Given the description of an element on the screen output the (x, y) to click on. 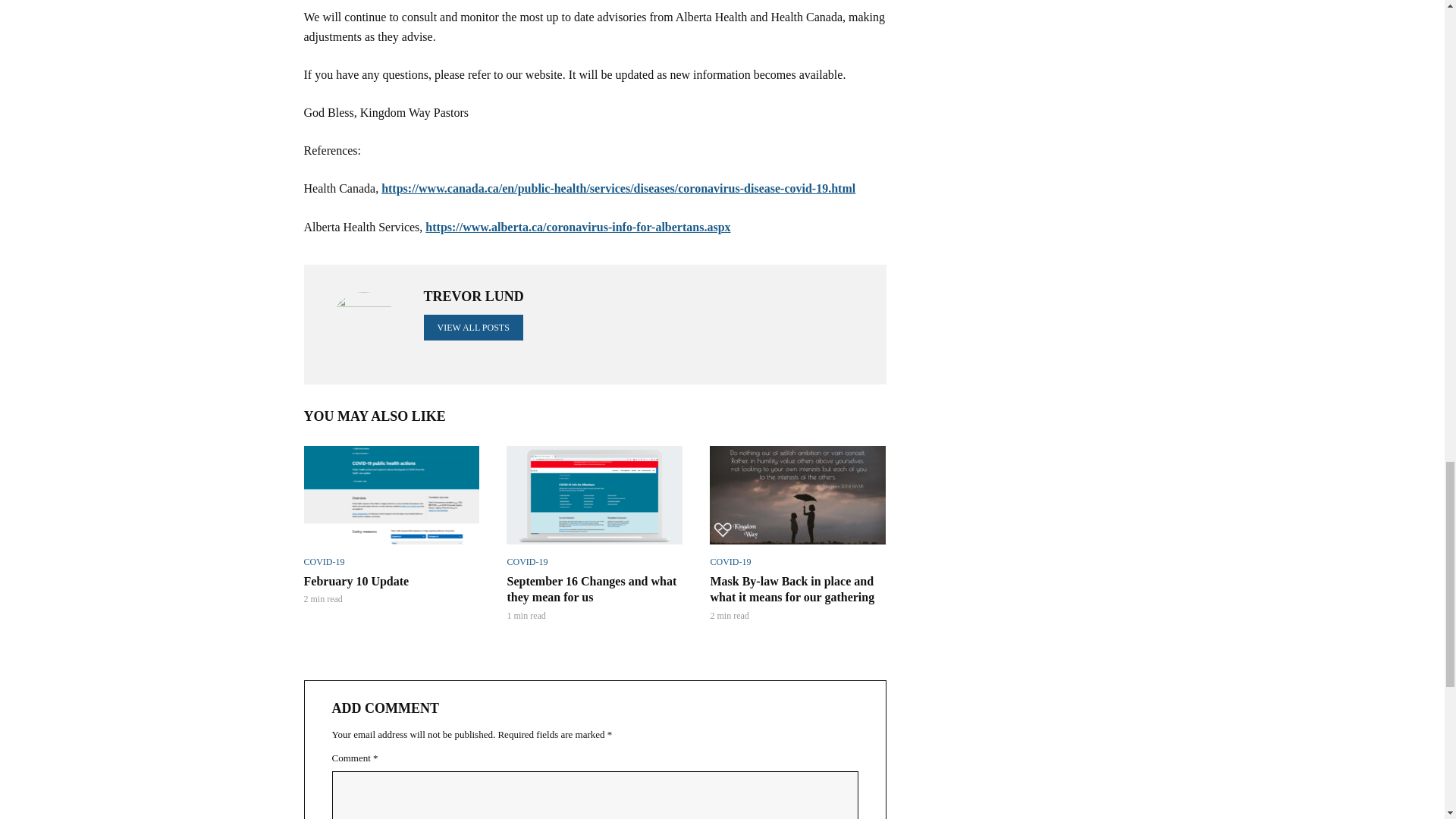
February 10 Update (390, 494)
September 16 Changes and what they mean for us (594, 494)
